Given the description of an element on the screen output the (x, y) to click on. 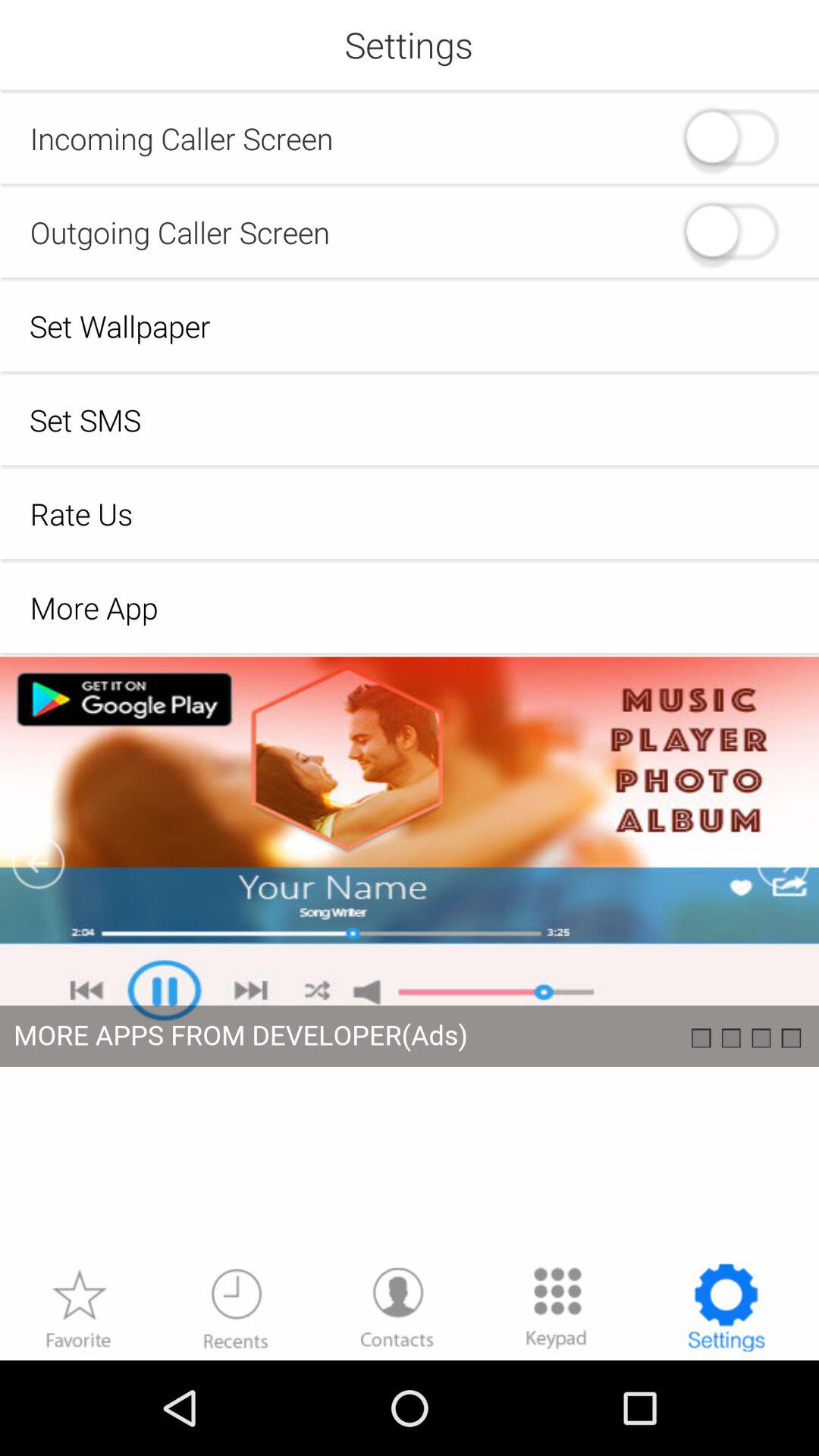
contacts (397, 1307)
